Given the description of an element on the screen output the (x, y) to click on. 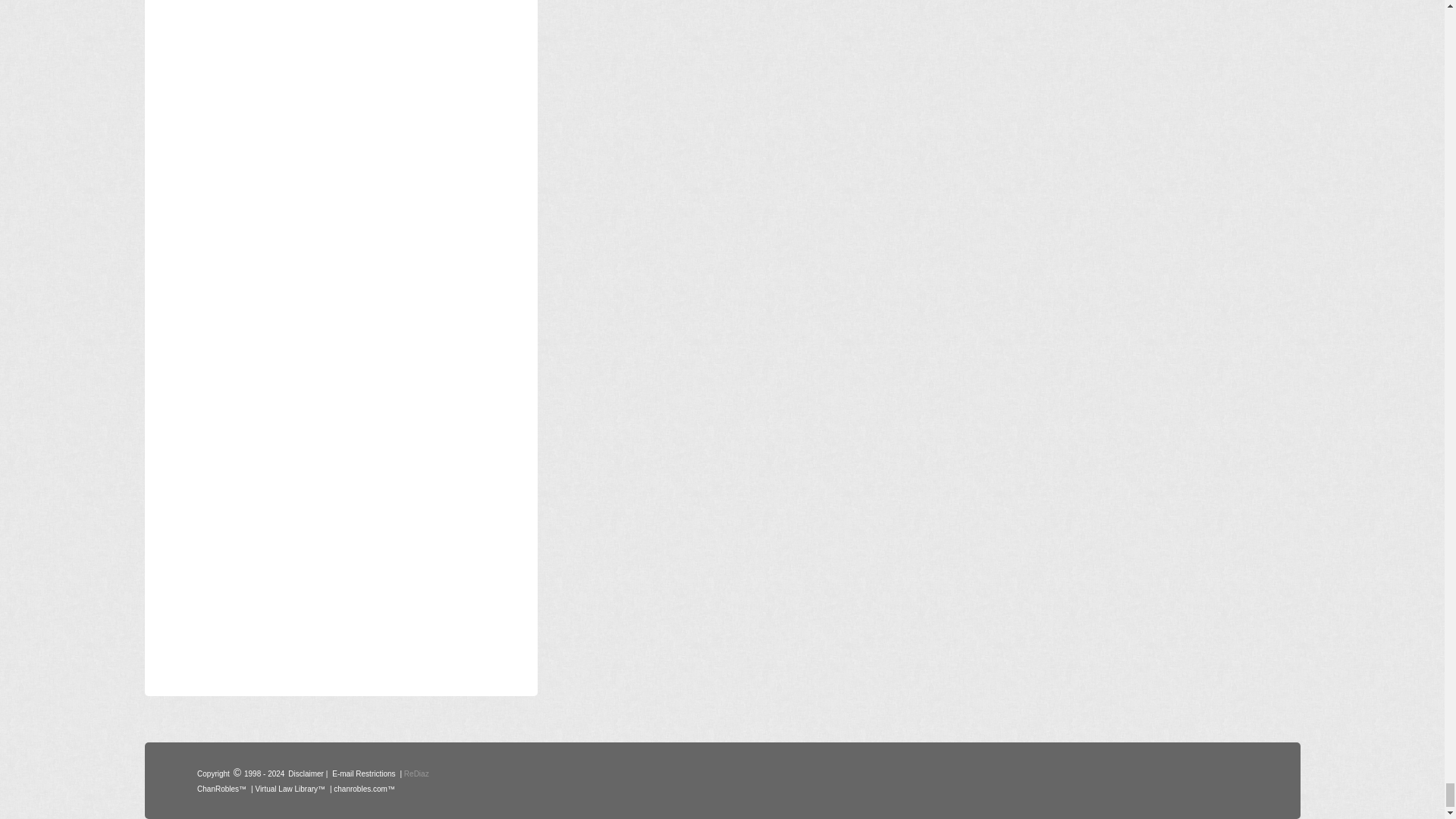
Copyright (213, 772)
E-mail Restrictions (363, 772)
